Given the description of an element on the screen output the (x, y) to click on. 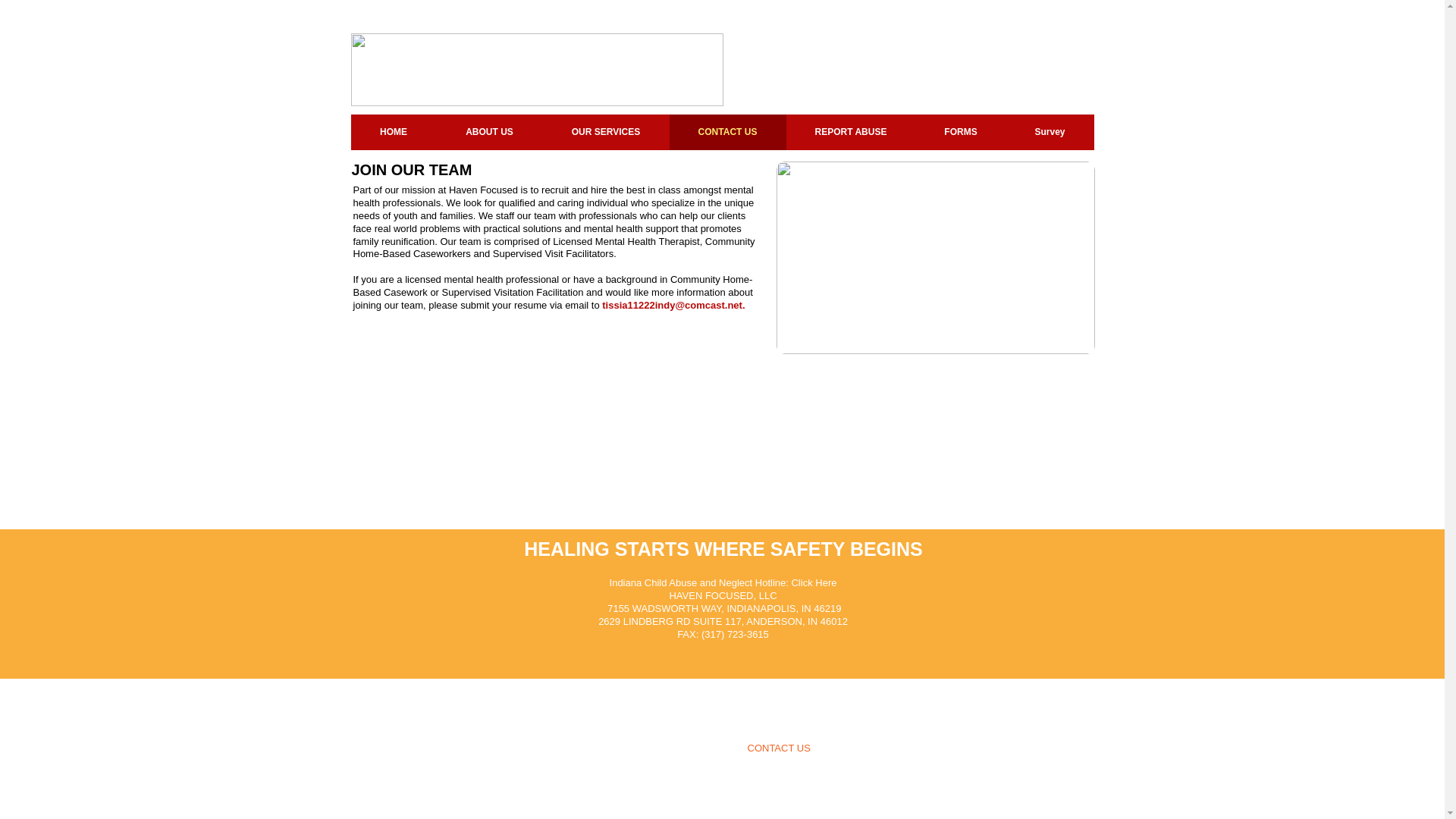
REPORT ABUSE (850, 131)
jobs-a.jpg (935, 257)
Click Here (812, 582)
ABOUT US (489, 131)
HOME (392, 131)
CONTACT US (727, 131)
OUR SERVICES (606, 131)
OUR SERVICES (694, 748)
ABOUT US (614, 748)
haven-focused-horizontal-b.png (536, 69)
